Given the description of an element on the screen output the (x, y) to click on. 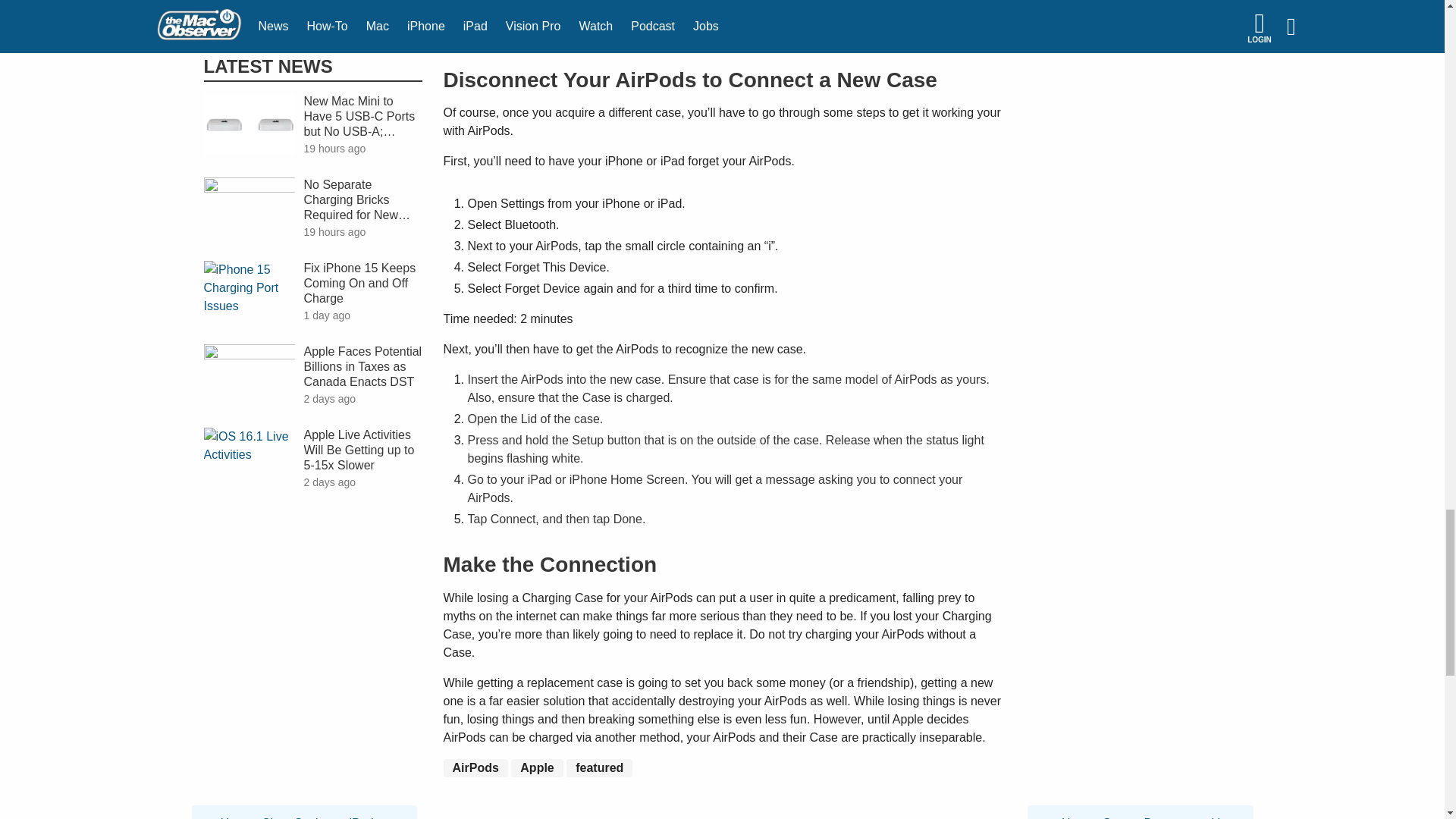
AirPods (474, 768)
Apple (536, 768)
featured (598, 768)
this Apple Support page (712, 5)
How to Clear Cache on iPad: Three Most Popular Browsers (303, 813)
